Given the description of an element on the screen output the (x, y) to click on. 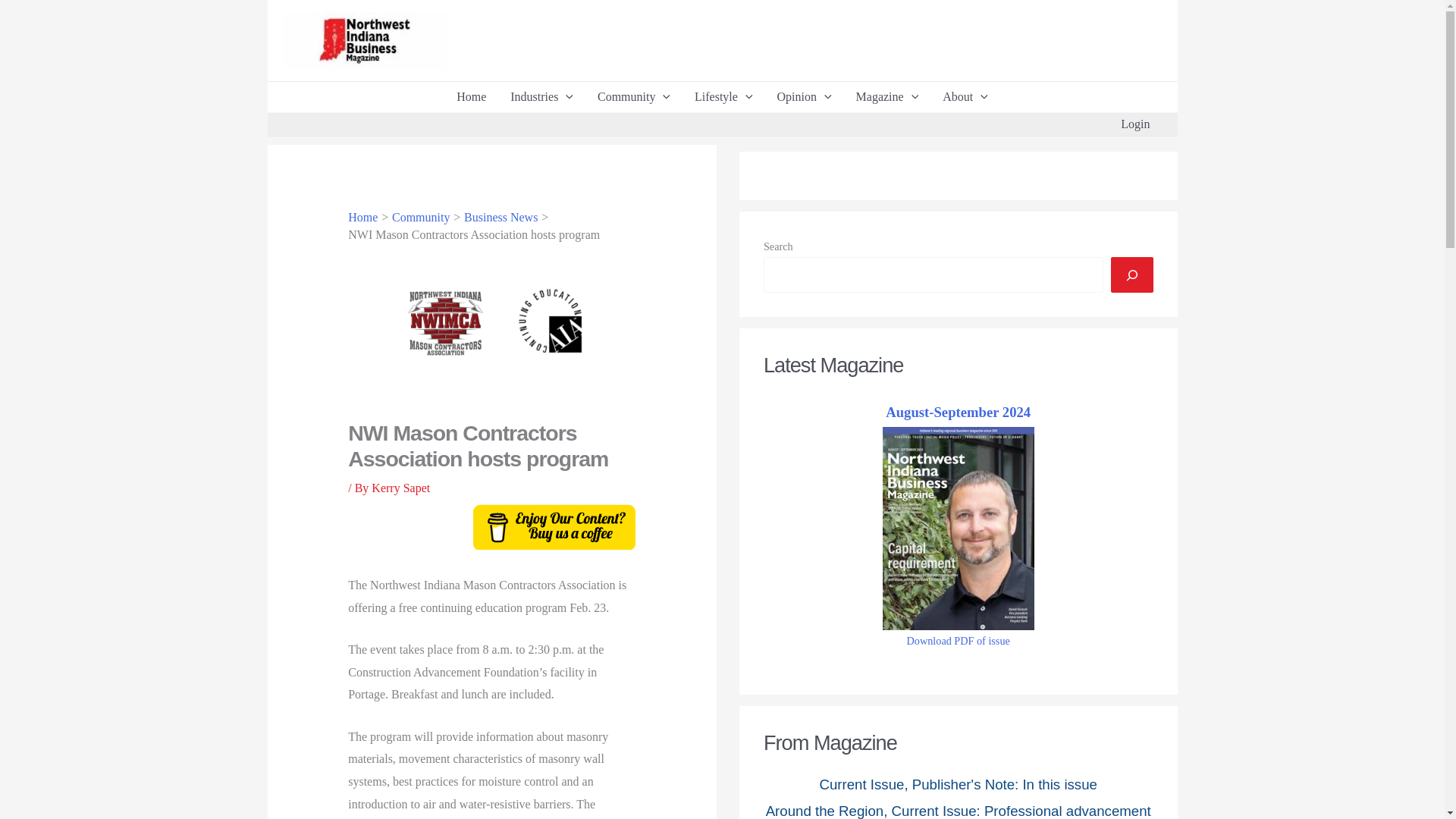
View all posts by Kerry Sapet (400, 487)
Community (633, 96)
Industries (541, 96)
Home (470, 96)
Lifestyle (723, 96)
Magazine (887, 96)
Opinion (803, 96)
